Given the description of an element on the screen output the (x, y) to click on. 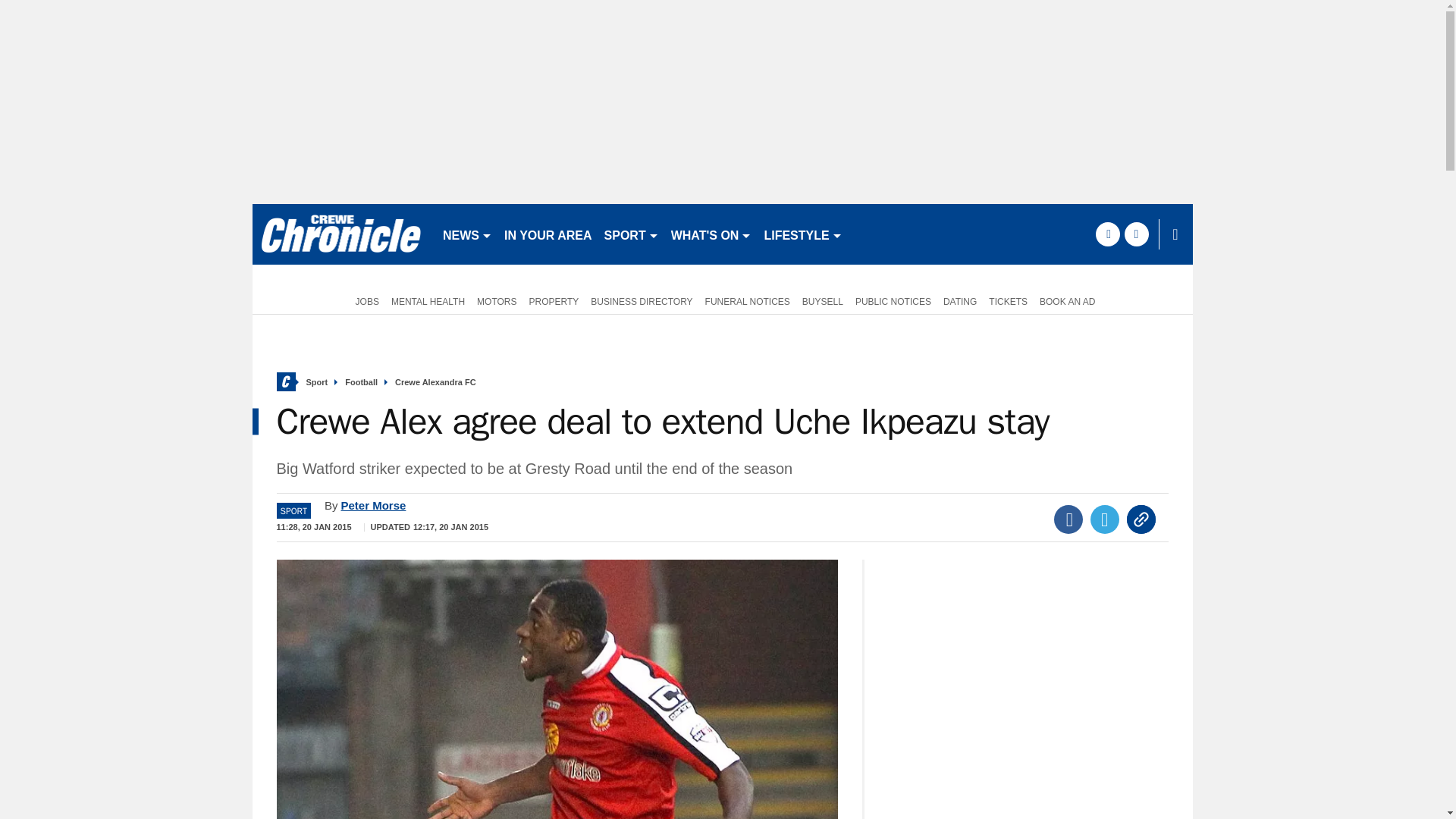
LIFESTYLE (802, 233)
crewechronicle (340, 233)
Twitter (1104, 519)
NEWS (466, 233)
SPORT (631, 233)
WHAT'S ON (711, 233)
twitter (1136, 233)
facebook (1106, 233)
IN YOUR AREA (547, 233)
Facebook (1068, 519)
